Given the description of an element on the screen output the (x, y) to click on. 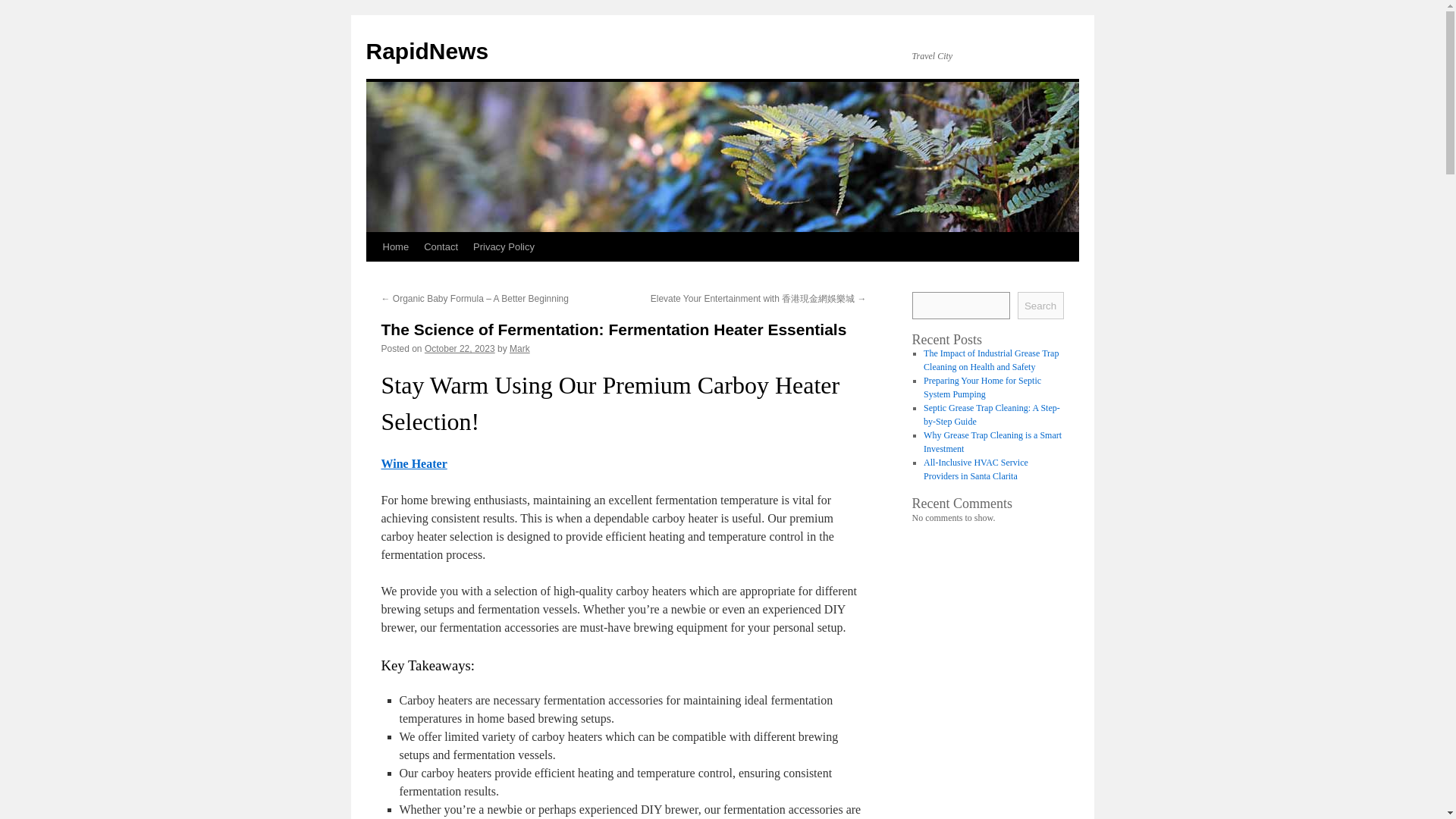
View all posts by Mark (519, 348)
Preparing Your Home for Septic System Pumping (982, 387)
RapidNews (426, 50)
Wine Heater (413, 463)
All-Inclusive HVAC Service Providers in Santa Clarita (975, 469)
10:13 pm (460, 348)
Septic Grease Trap Cleaning: A Step-by-Step Guide (991, 414)
Privacy Policy (503, 246)
Mark (519, 348)
Contact (440, 246)
Why Grease Trap Cleaning is a Smart Investment (992, 441)
October 22, 2023 (460, 348)
Search (1040, 305)
Home (395, 246)
